Given the description of an element on the screen output the (x, y) to click on. 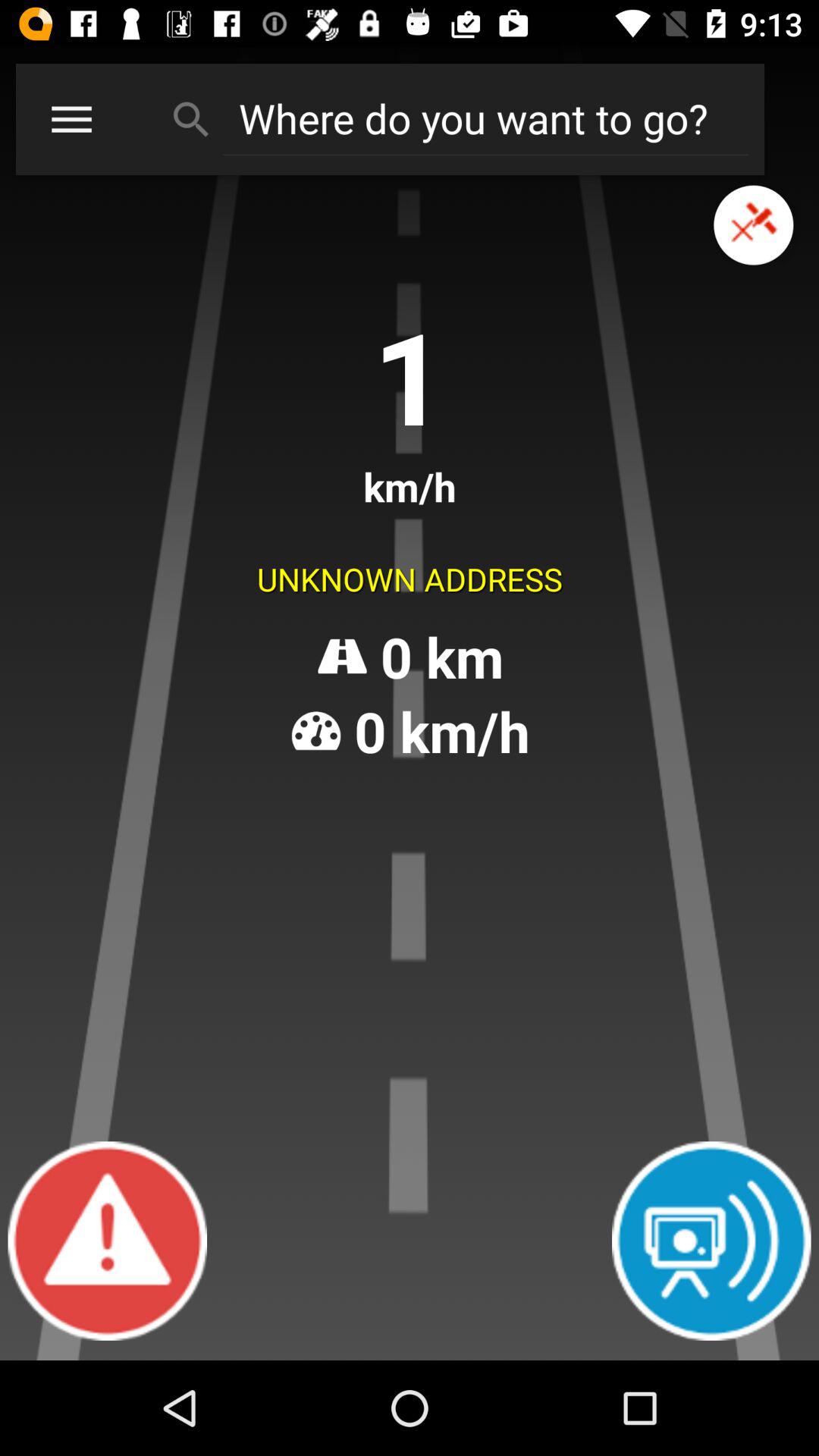
tap item above unknown address (753, 225)
